Given the description of an element on the screen output the (x, y) to click on. 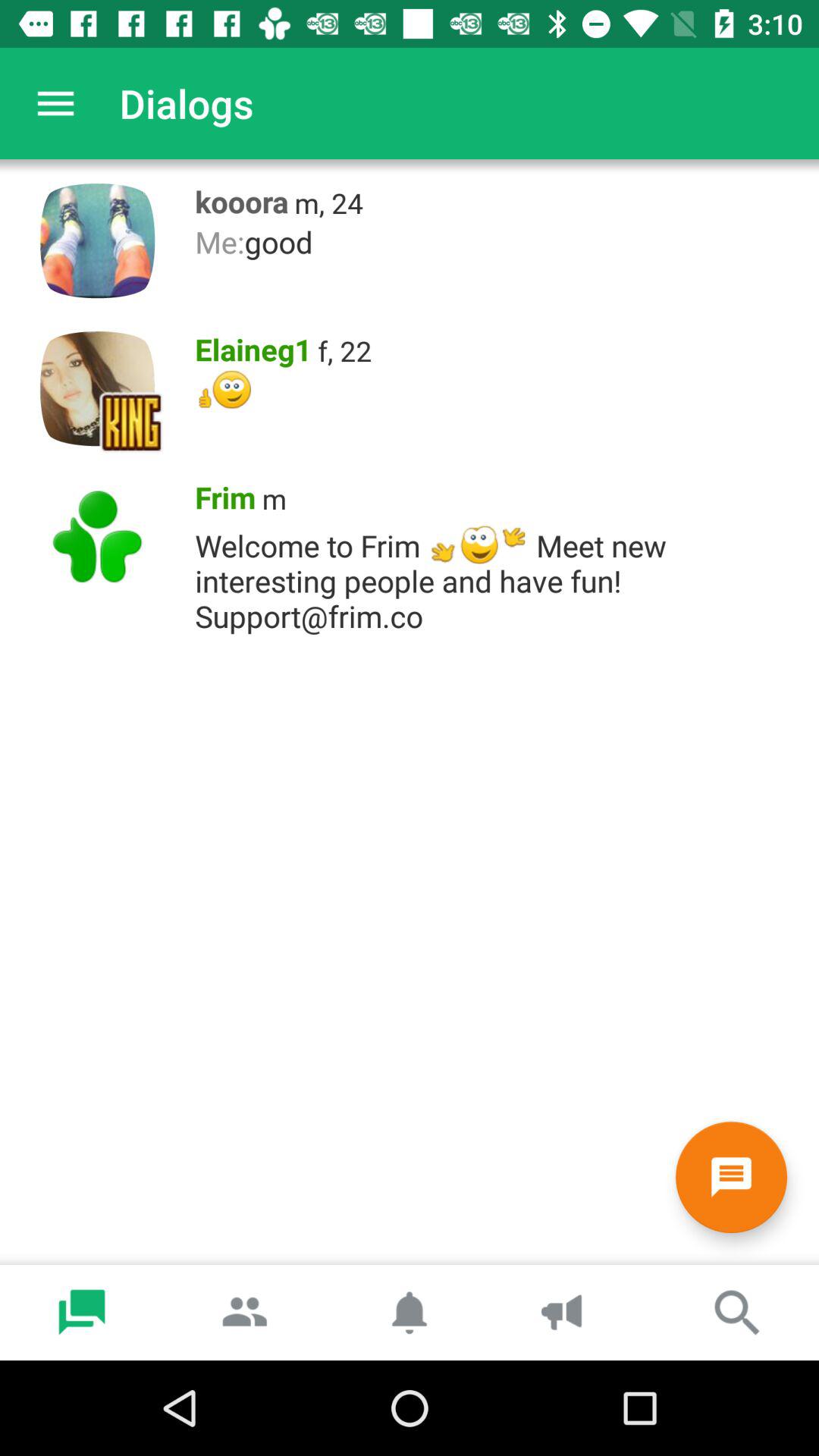
click the m, 24 icon (328, 202)
